Given the description of an element on the screen output the (x, y) to click on. 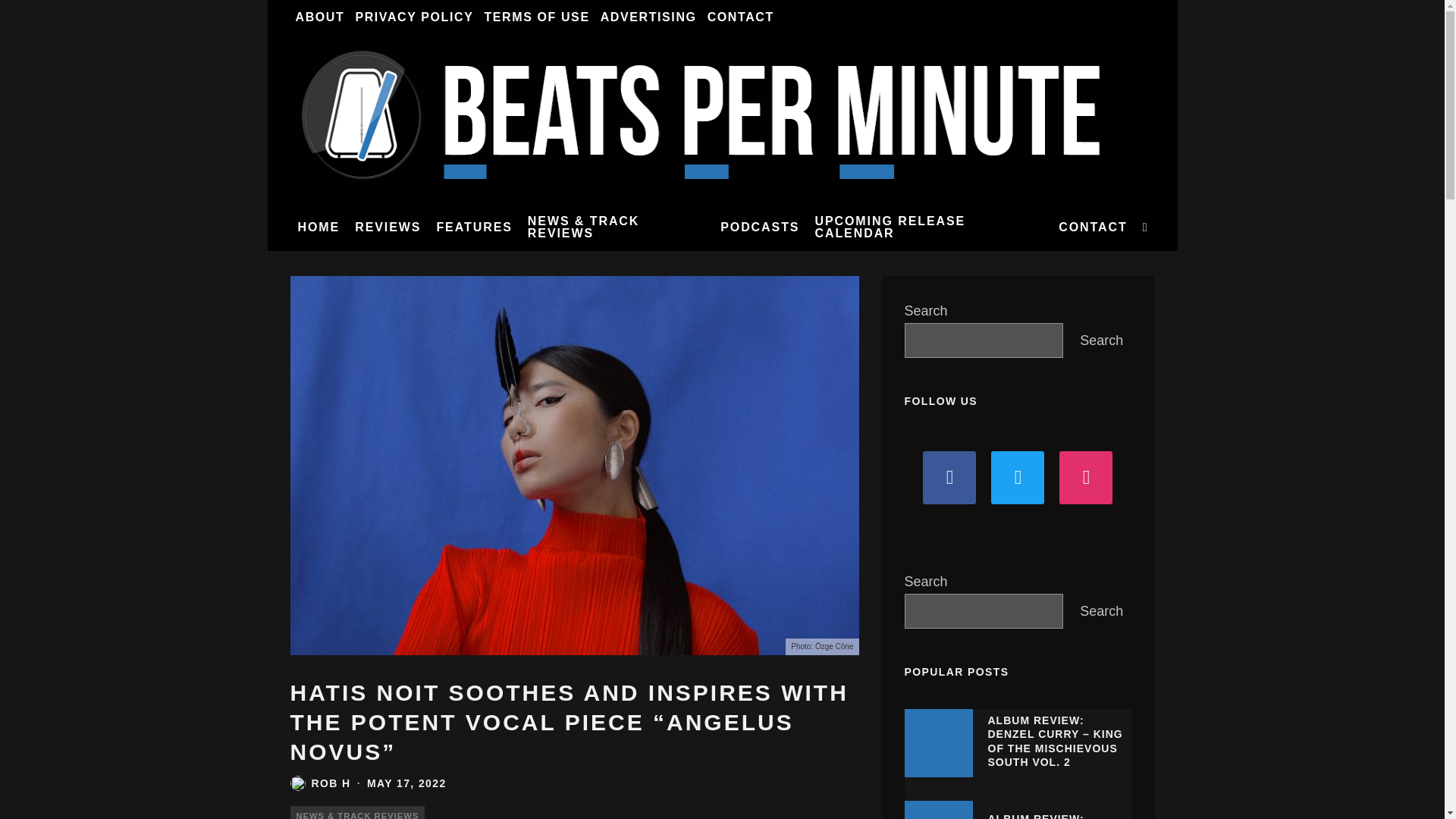
REVIEWS (387, 226)
ADVERTISING (648, 17)
CONTACT (739, 17)
TERMS OF USE (536, 17)
FEATURES (473, 226)
PRIVACY POLICY (414, 17)
HOME (318, 226)
ABOUT (319, 17)
